Given the description of an element on the screen output the (x, y) to click on. 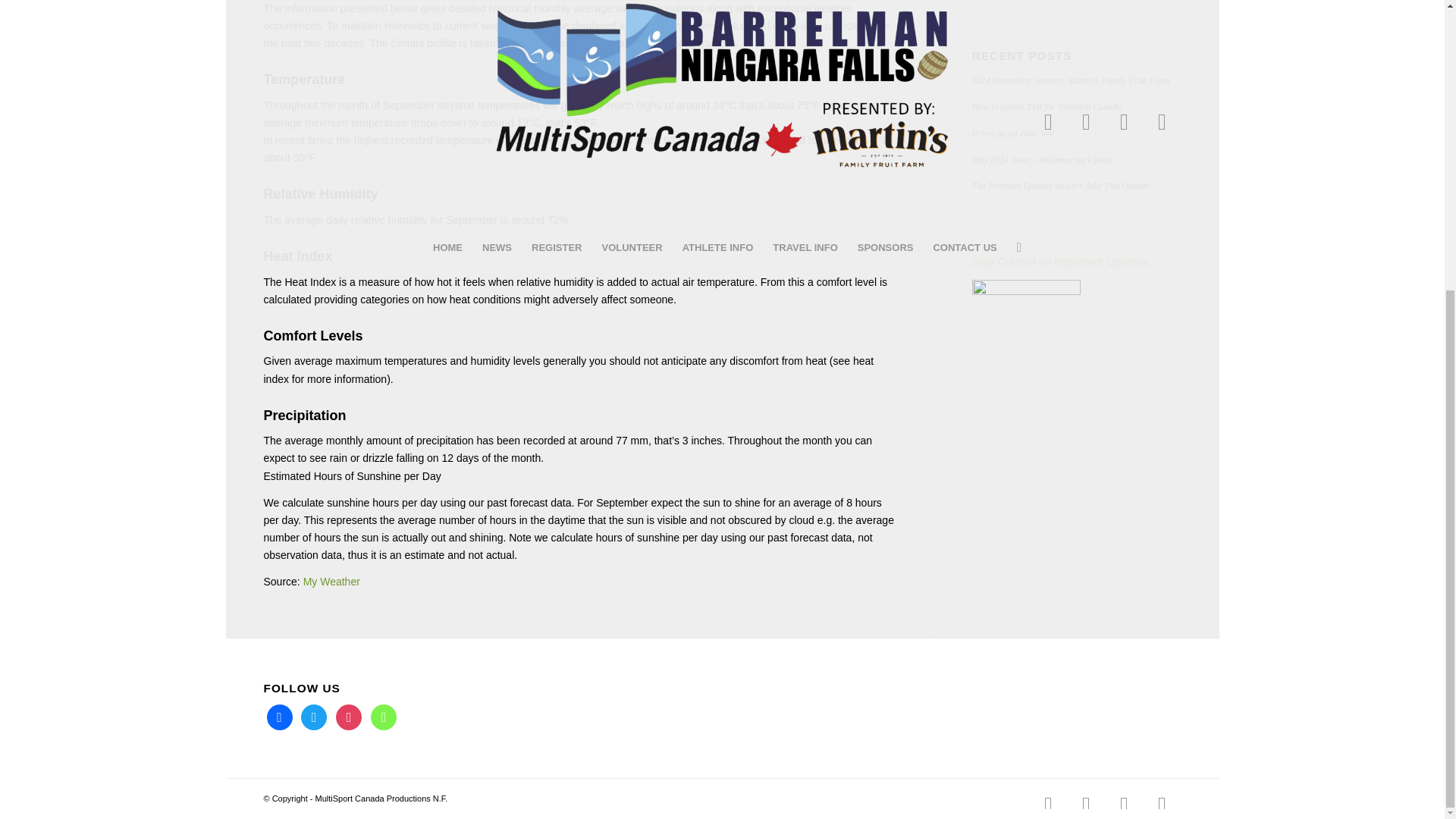
Instagram (348, 715)
X (313, 715)
My Weather (330, 581)
Facebook (279, 715)
